Given the description of an element on the screen output the (x, y) to click on. 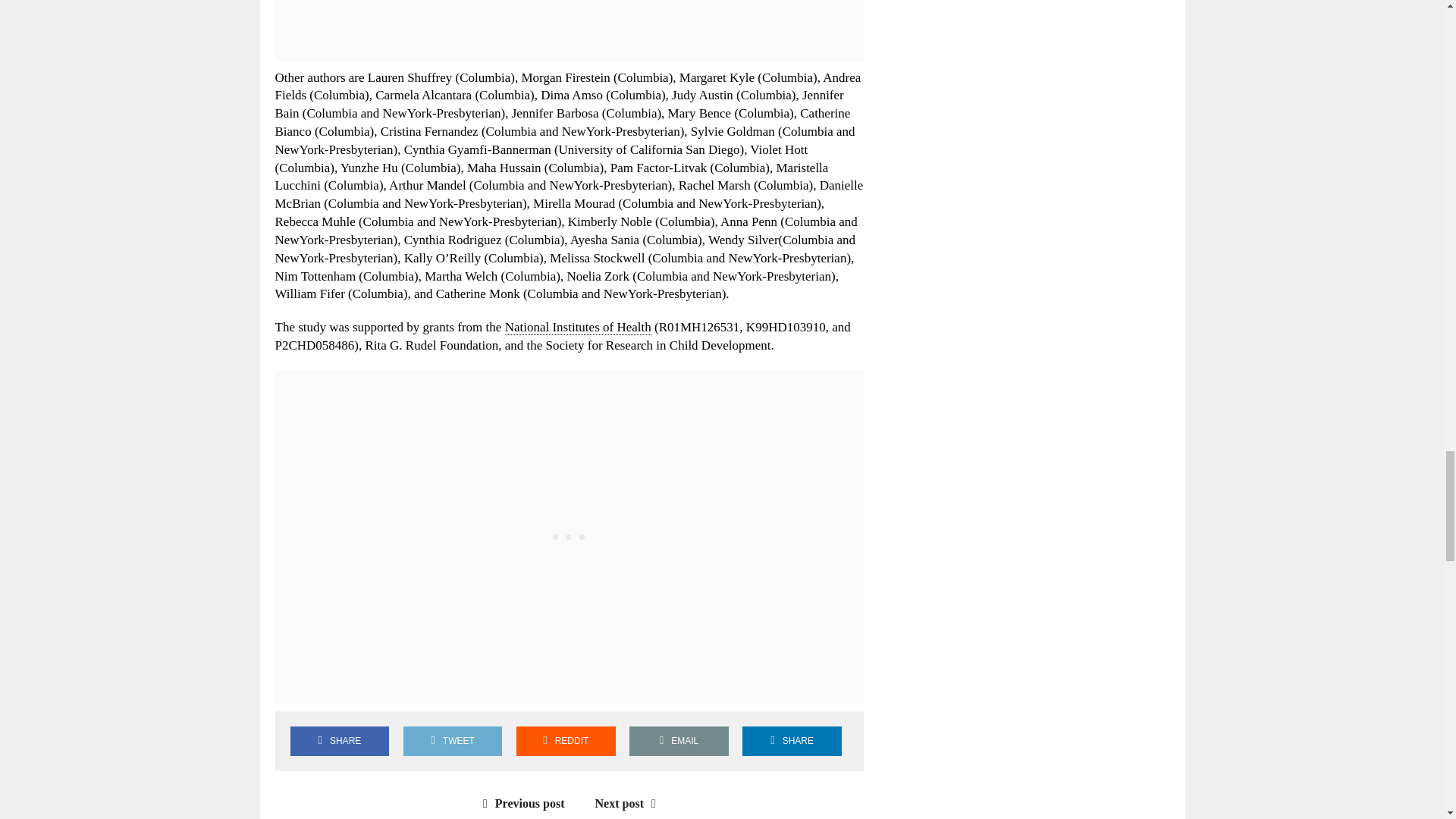
Tweet This Article (452, 740)
Post This Article to Reddit (565, 740)
Share on Facebook (338, 740)
Share on LinkedIn (791, 740)
